Given the description of an element on the screen output the (x, y) to click on. 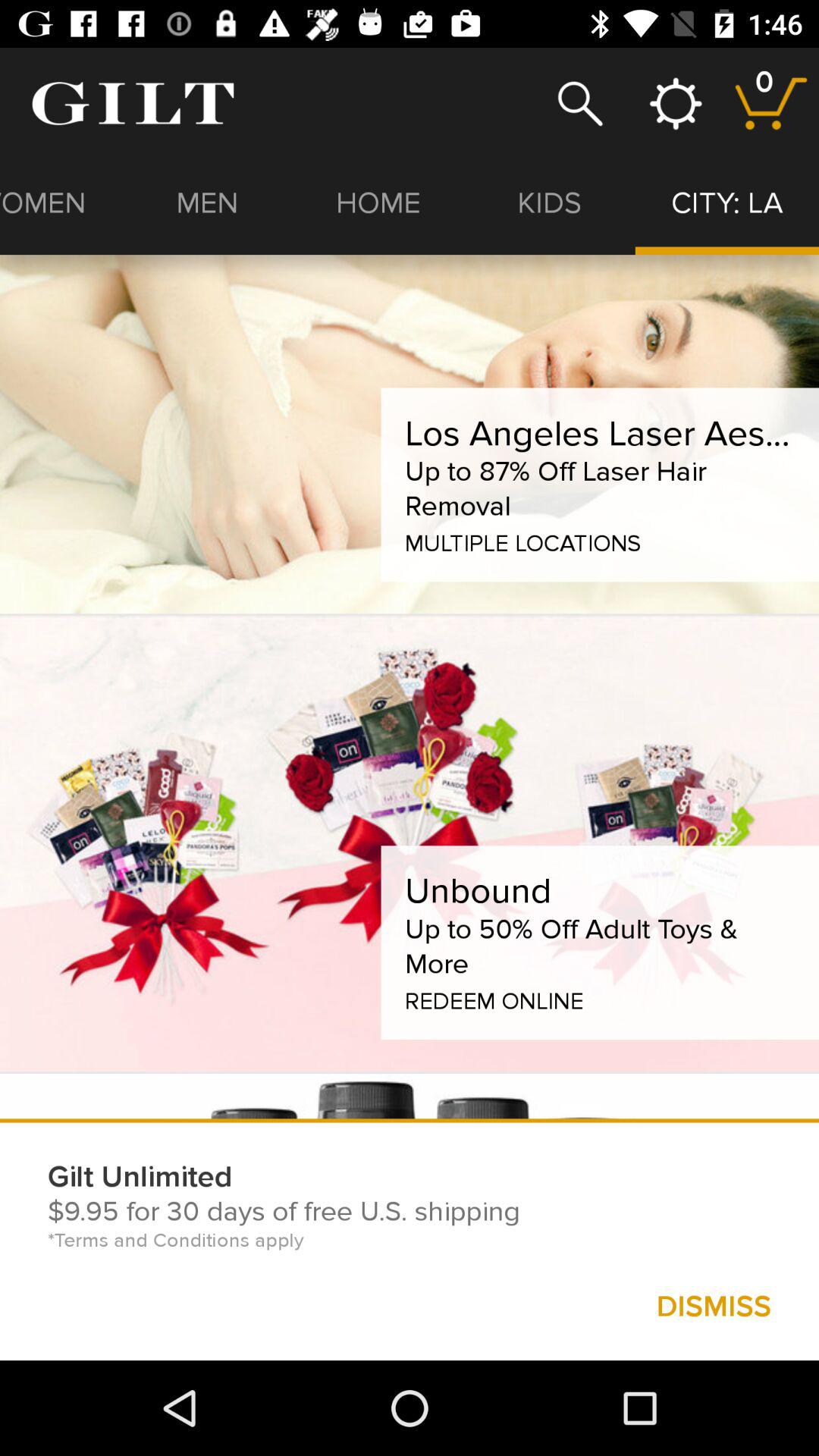
stored selected item (771, 103)
